Given the description of an element on the screen output the (x, y) to click on. 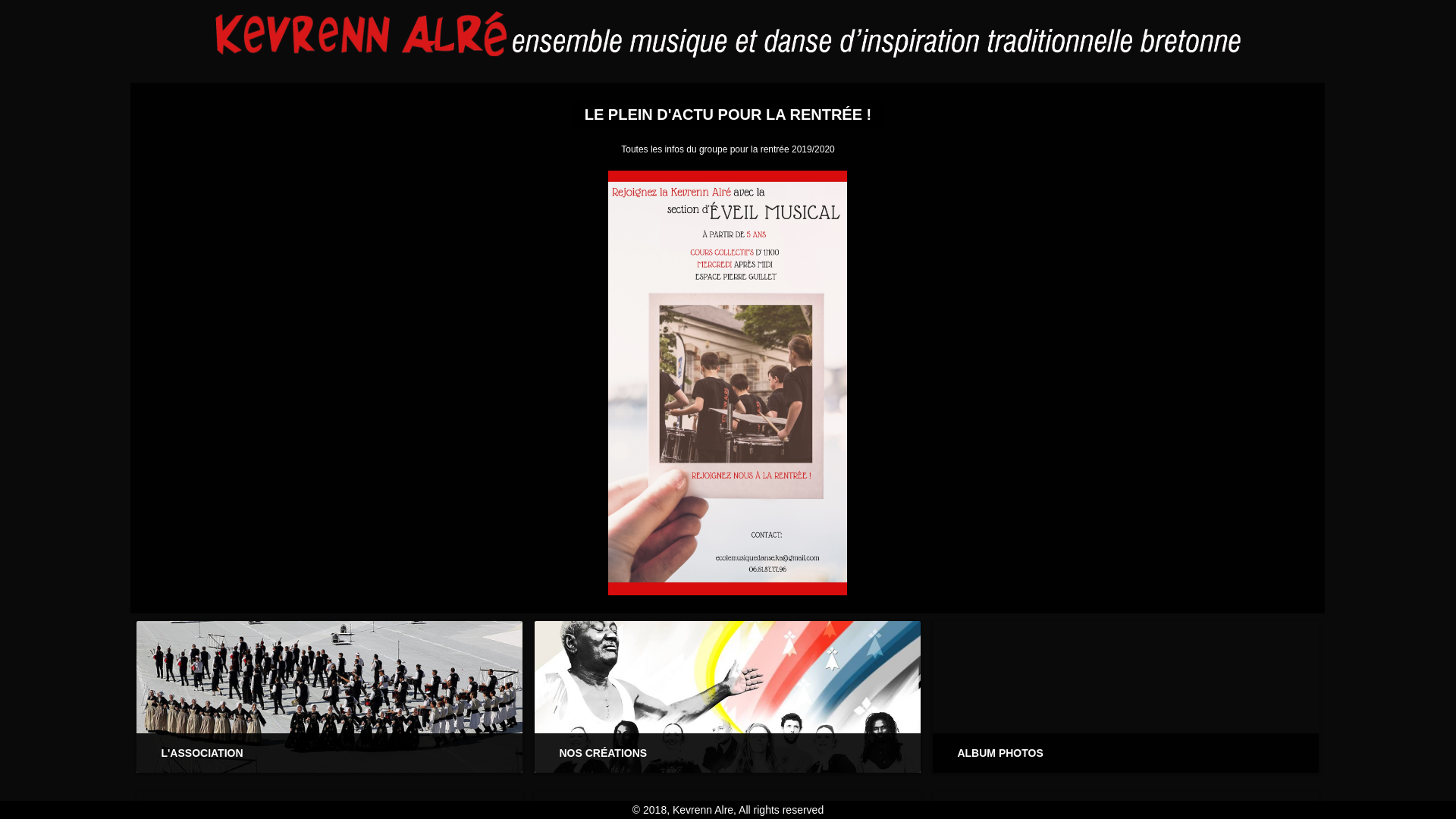
STEPHEN CREIGHTON EN BRETAGNE Element type: text (727, 114)
L'ASSOCIATION Element type: text (201, 752)
ALBUM PHOTOS Element type: text (999, 752)
